Given the description of an element on the screen output the (x, y) to click on. 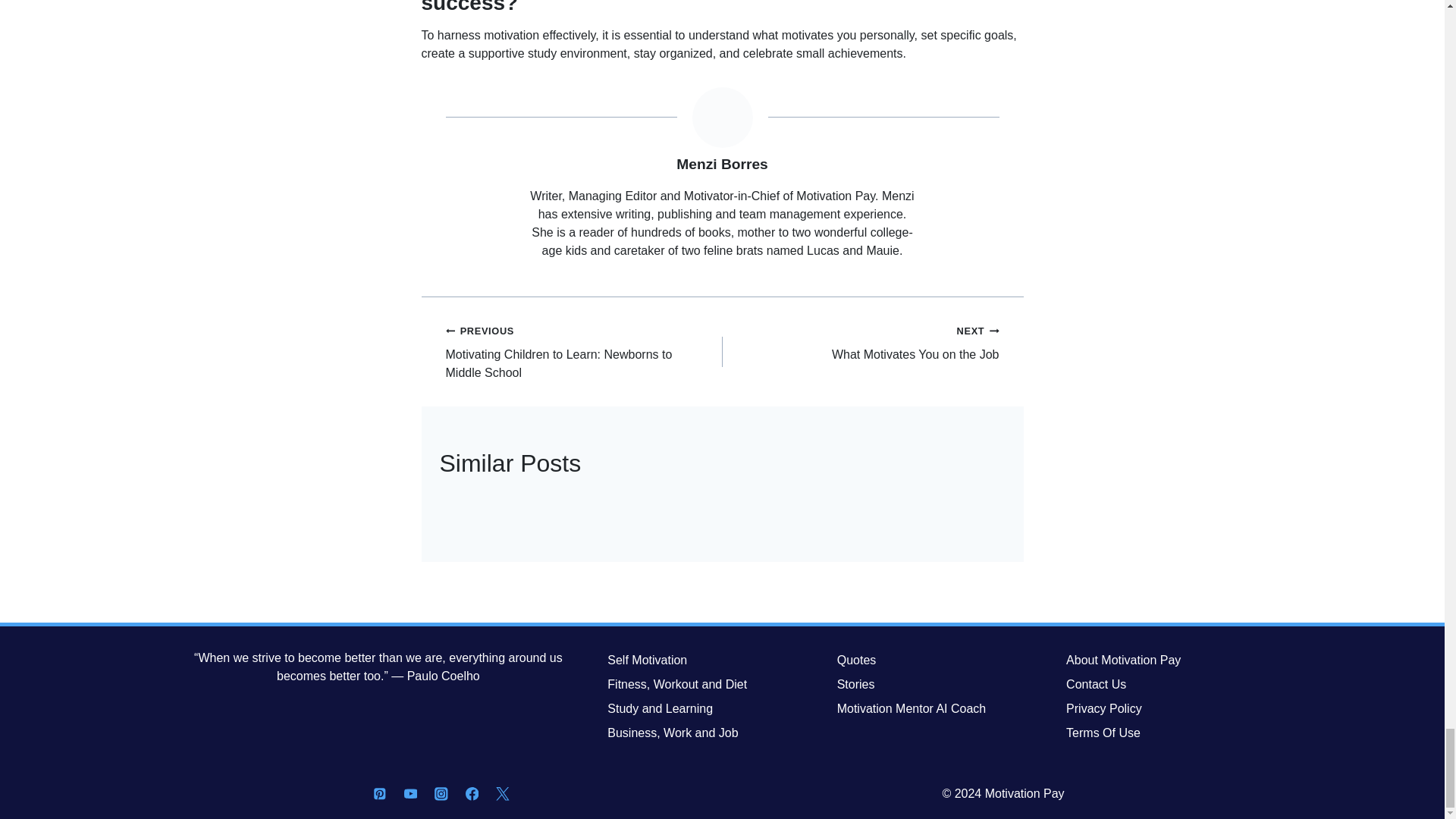
Menzi Borres (722, 163)
Posts by Menzi Borres (860, 342)
